Given the description of an element on the screen output the (x, y) to click on. 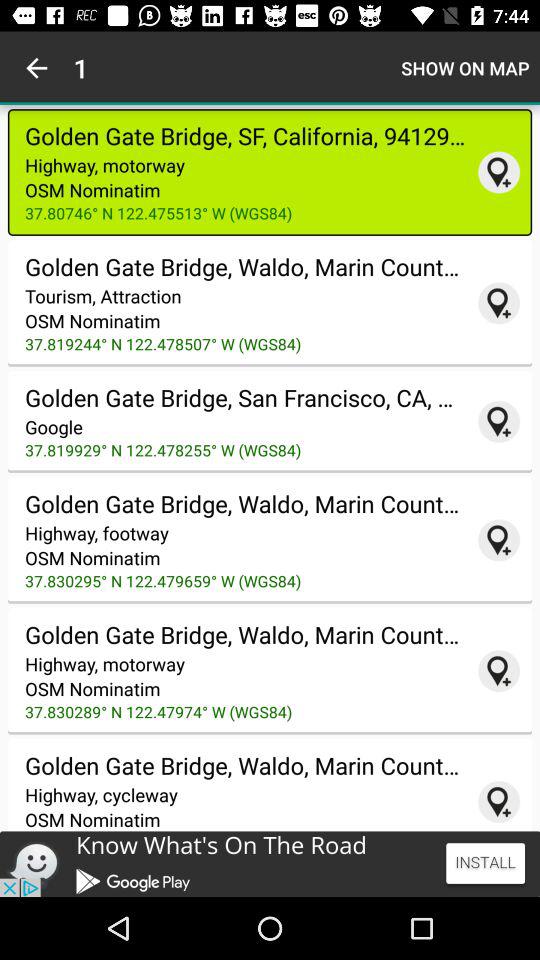
open street map (499, 802)
